Given the description of an element on the screen output the (x, y) to click on. 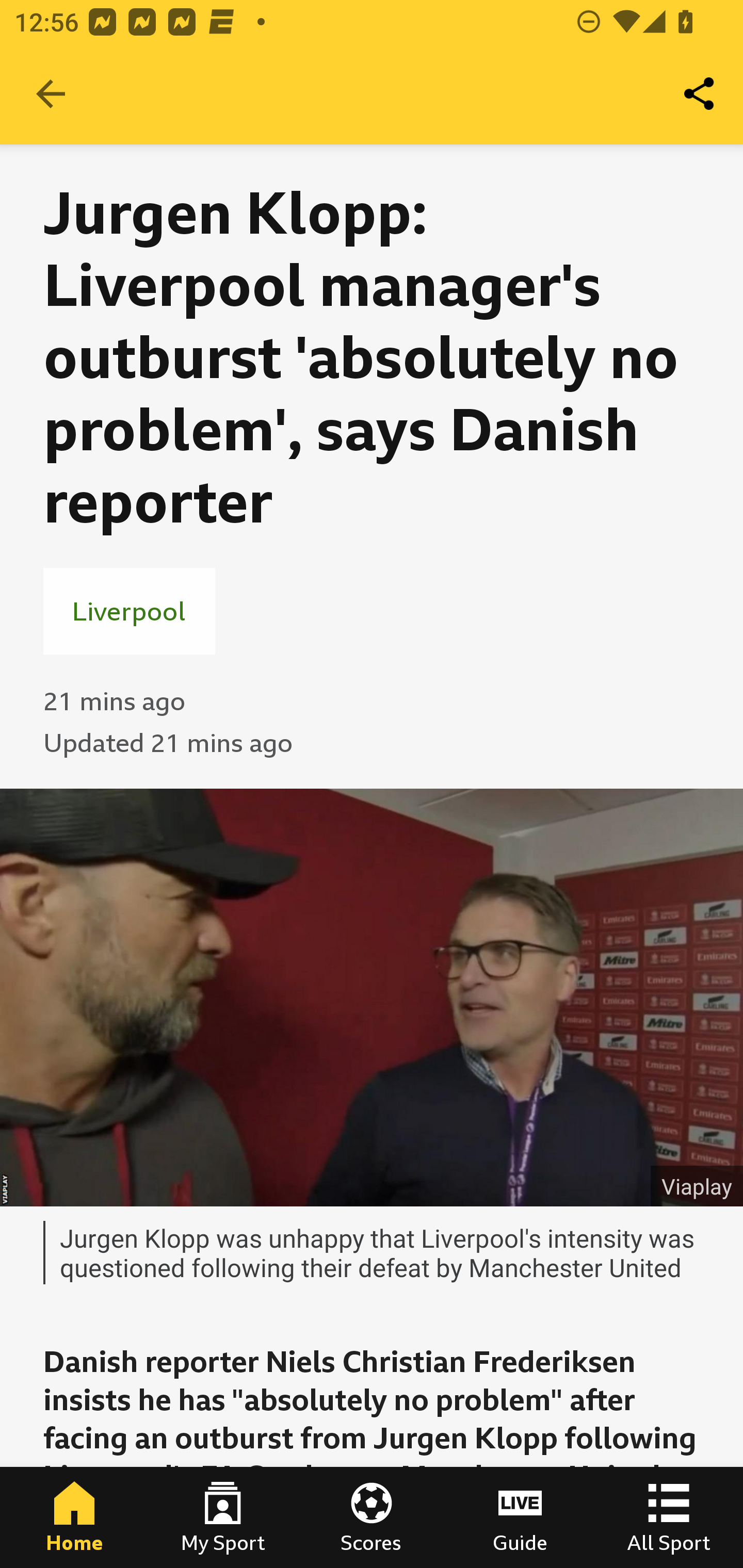
Navigate up (50, 93)
Share (699, 93)
Liverpool (129, 610)
My Sport (222, 1517)
Scores (371, 1517)
Guide (519, 1517)
All Sport (668, 1517)
